Given the description of an element on the screen output the (x, y) to click on. 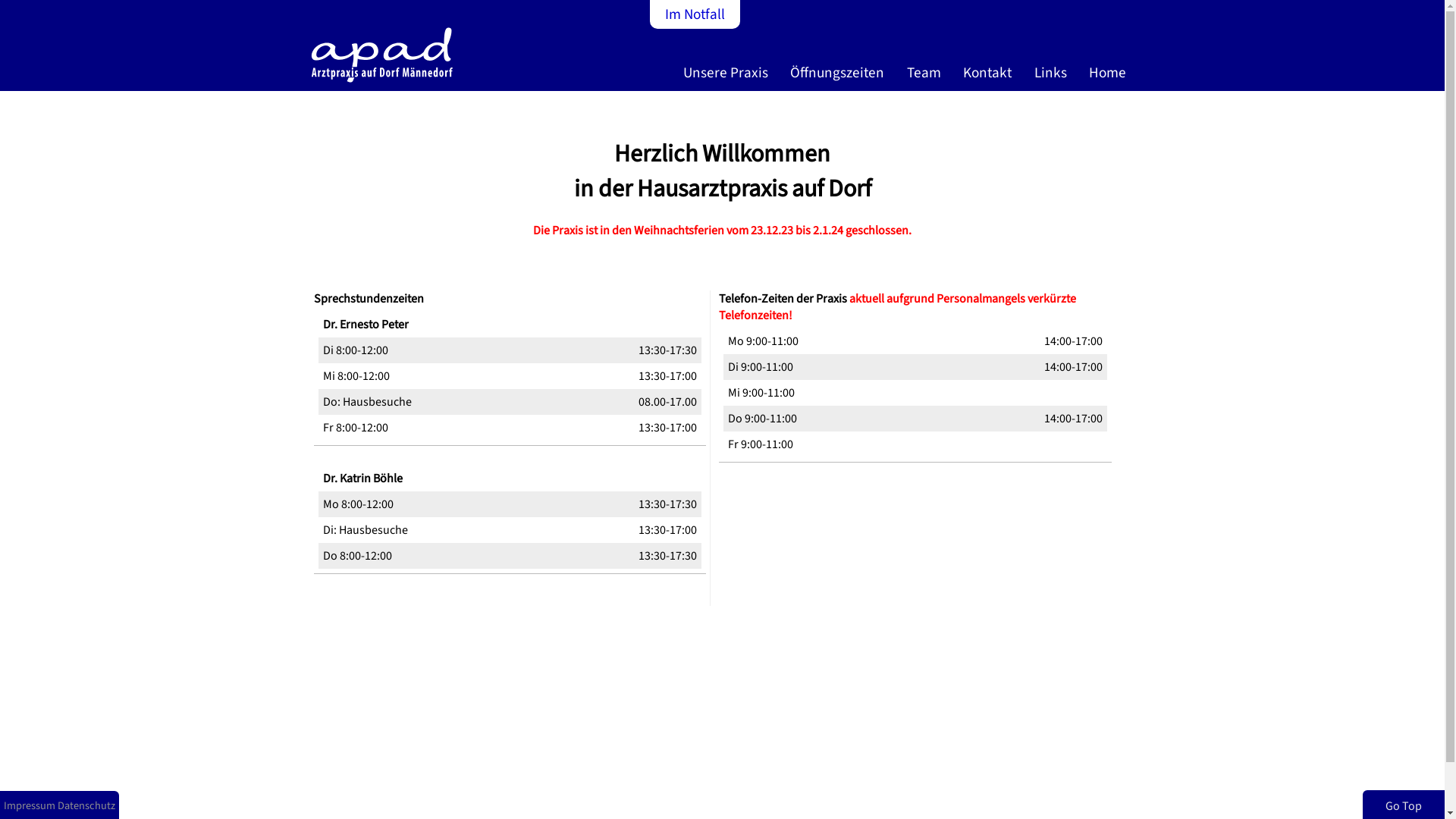
Unsere Praxis Element type: text (728, 78)
Im Notfall Element type: text (694, 14)
Kontakt Element type: text (990, 78)
Team Element type: text (926, 78)
Home Element type: text (1110, 78)
Links Element type: text (1053, 78)
Impressum Element type: text (29, 805)
Datenschutz Element type: text (86, 805)
